Given the description of an element on the screen output the (x, y) to click on. 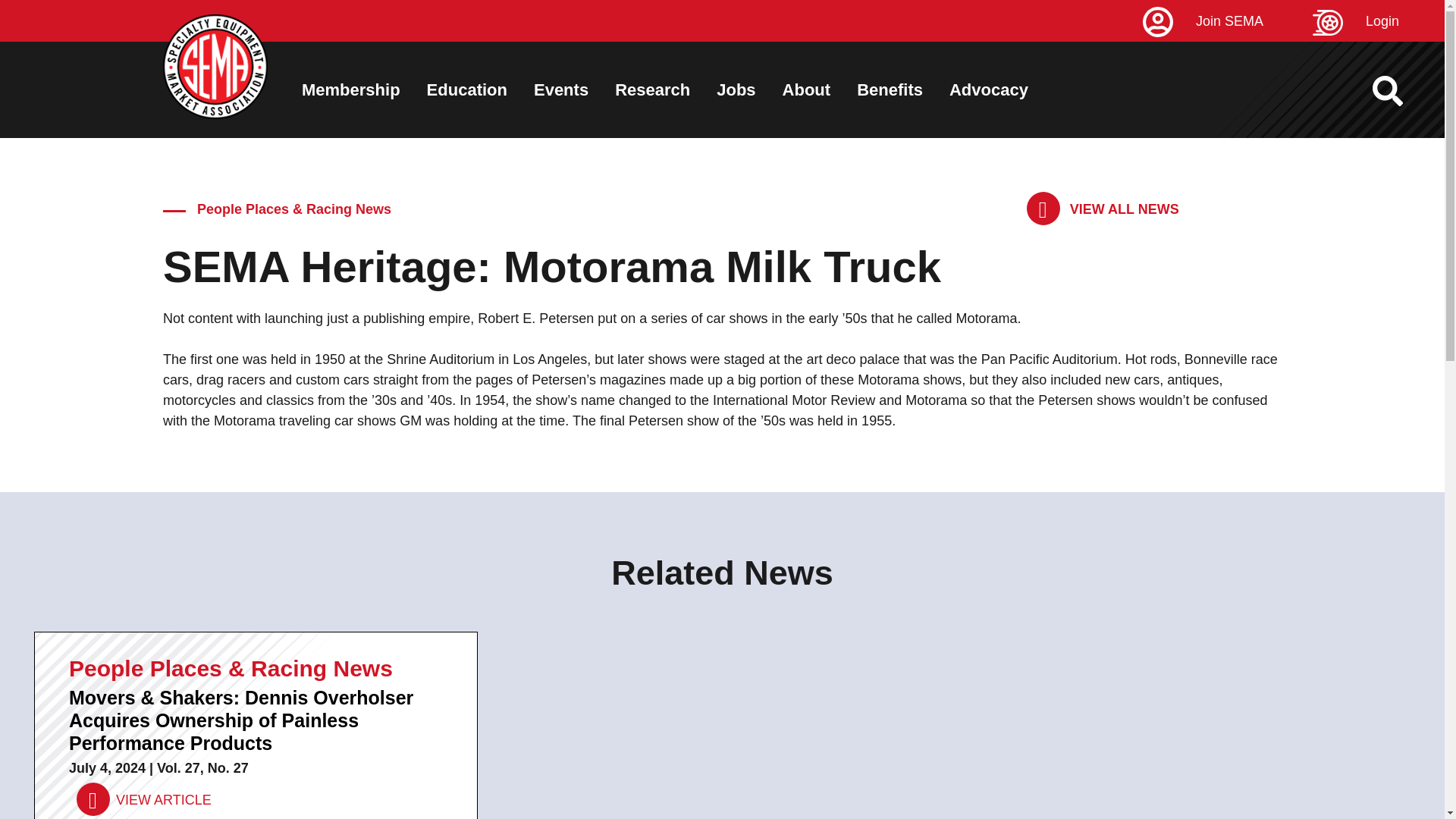
Search Sema.org (1401, 91)
Advocacy (988, 89)
eNews archive (1102, 209)
Join SEMA (1225, 20)
Benefits (889, 89)
VIEW ARTICLE (143, 799)
Education (466, 89)
Login (1378, 20)
Membership (350, 89)
